Given the description of an element on the screen output the (x, y) to click on. 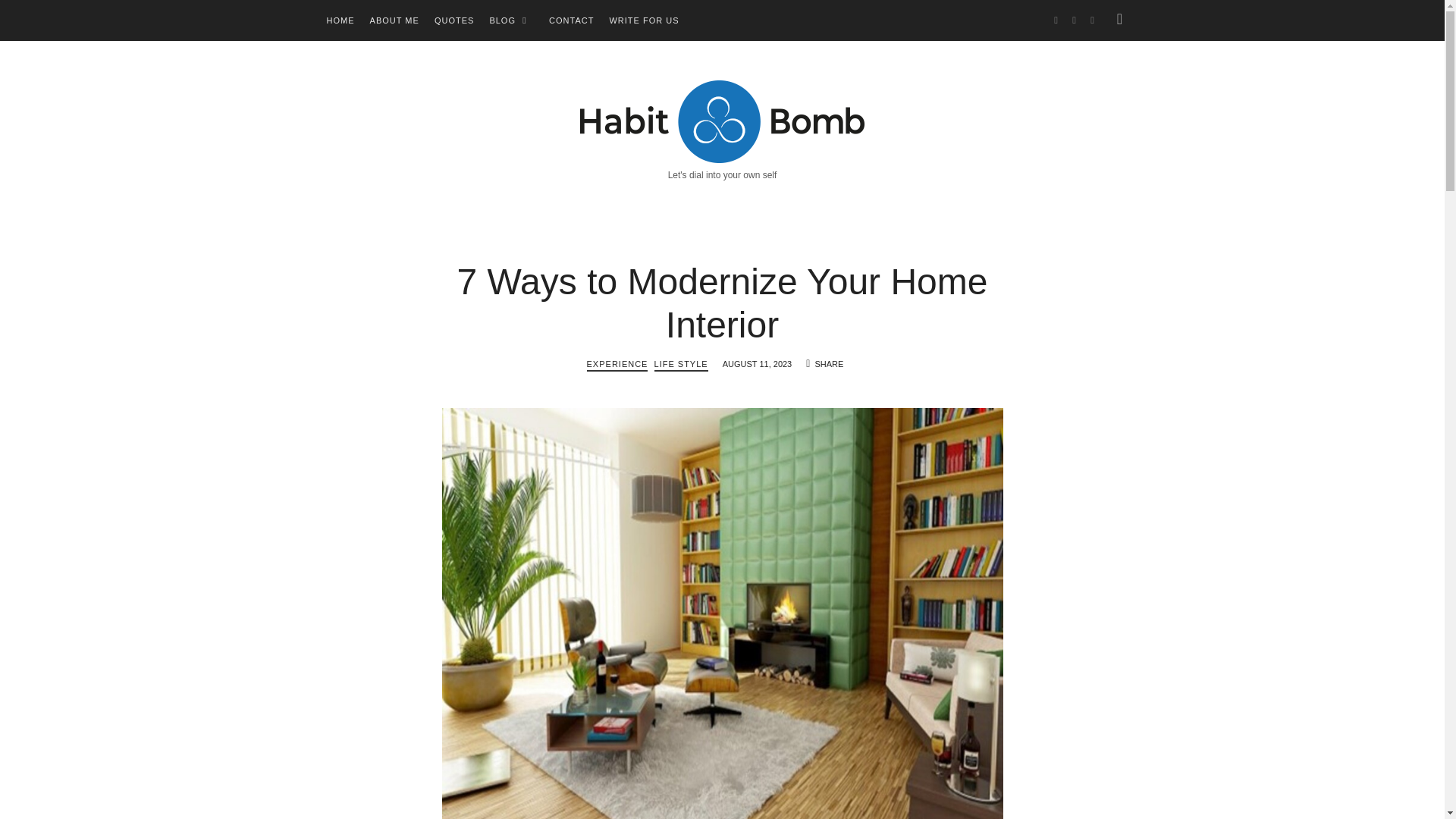
CONTACT (571, 20)
WRITE FOR US (643, 20)
ABOUT ME (394, 20)
HOME (339, 20)
LIFE STYLE (680, 364)
QUOTES (453, 20)
BLOG (502, 20)
HabitBomb (721, 118)
Search (40, 17)
EXPERIENCE (616, 364)
